Given the description of an element on the screen output the (x, y) to click on. 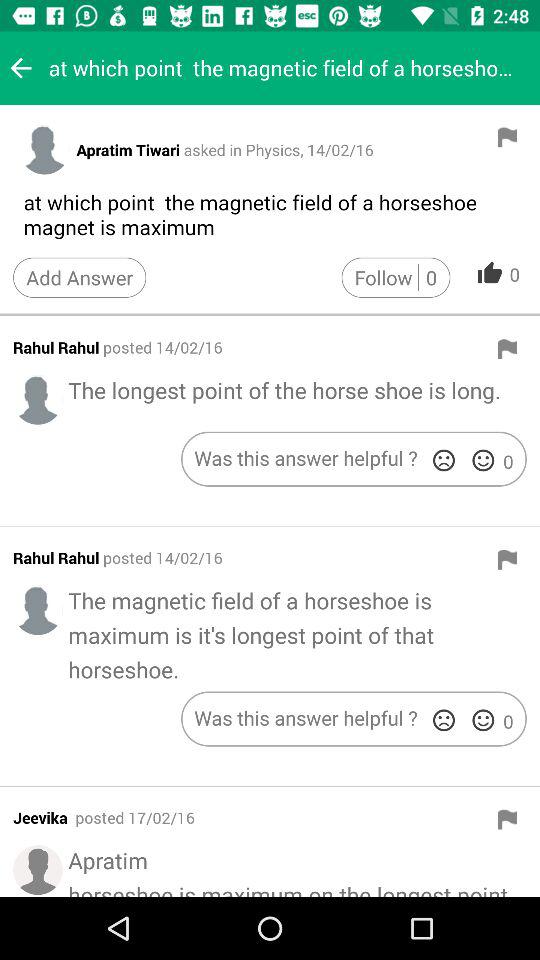
click the happy face (483, 460)
